Given the description of an element on the screen output the (x, y) to click on. 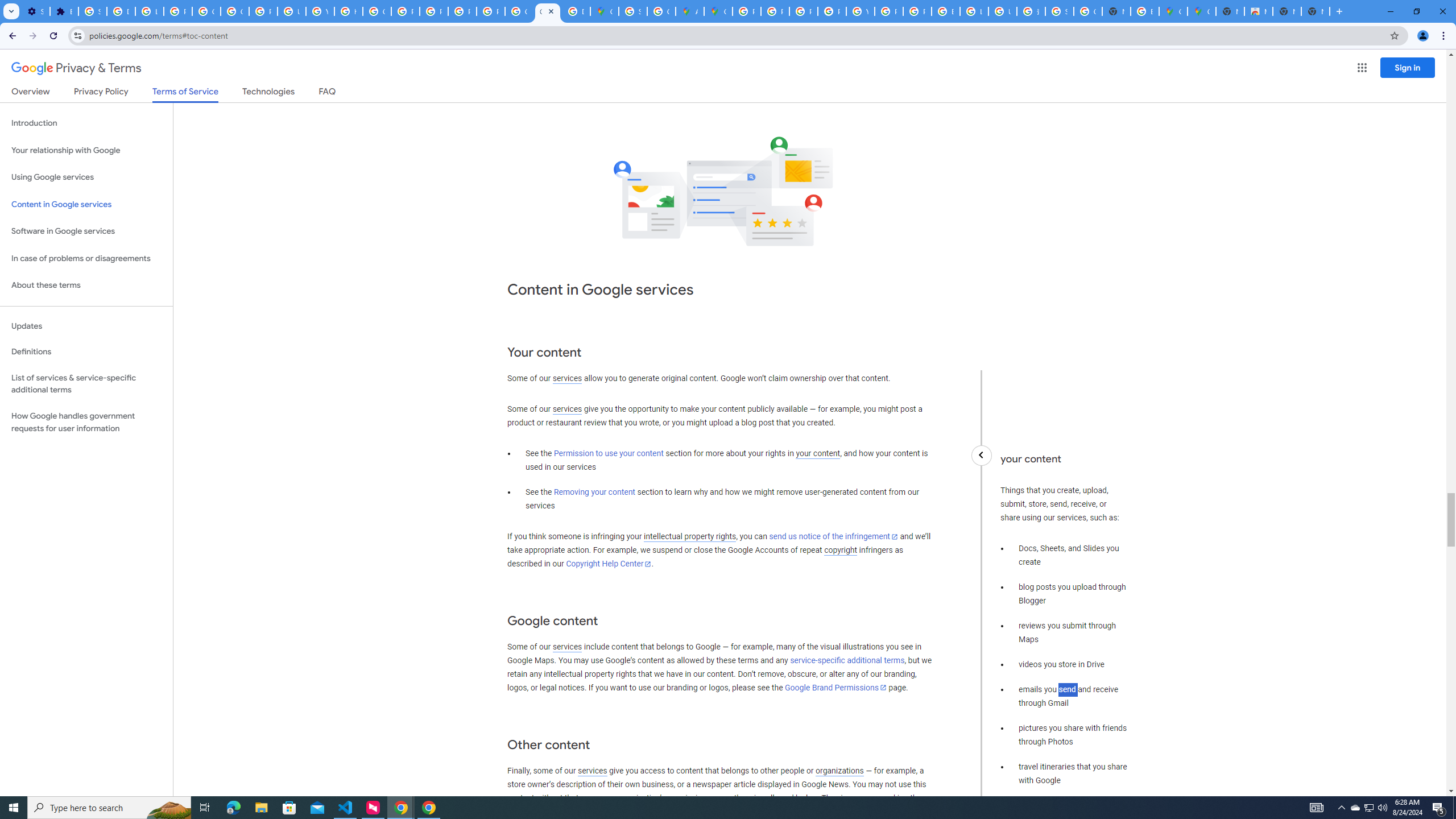
Privacy Help Center - Policies Help (405, 11)
Definitions (86, 352)
services (591, 770)
FAQ (327, 93)
Google Maps (604, 11)
Overview (30, 93)
YouTube (860, 11)
Privacy Help Center - Policies Help (774, 11)
service-specific additional terms (847, 660)
Sign in - Google Accounts (92, 11)
